Given the description of an element on the screen output the (x, y) to click on. 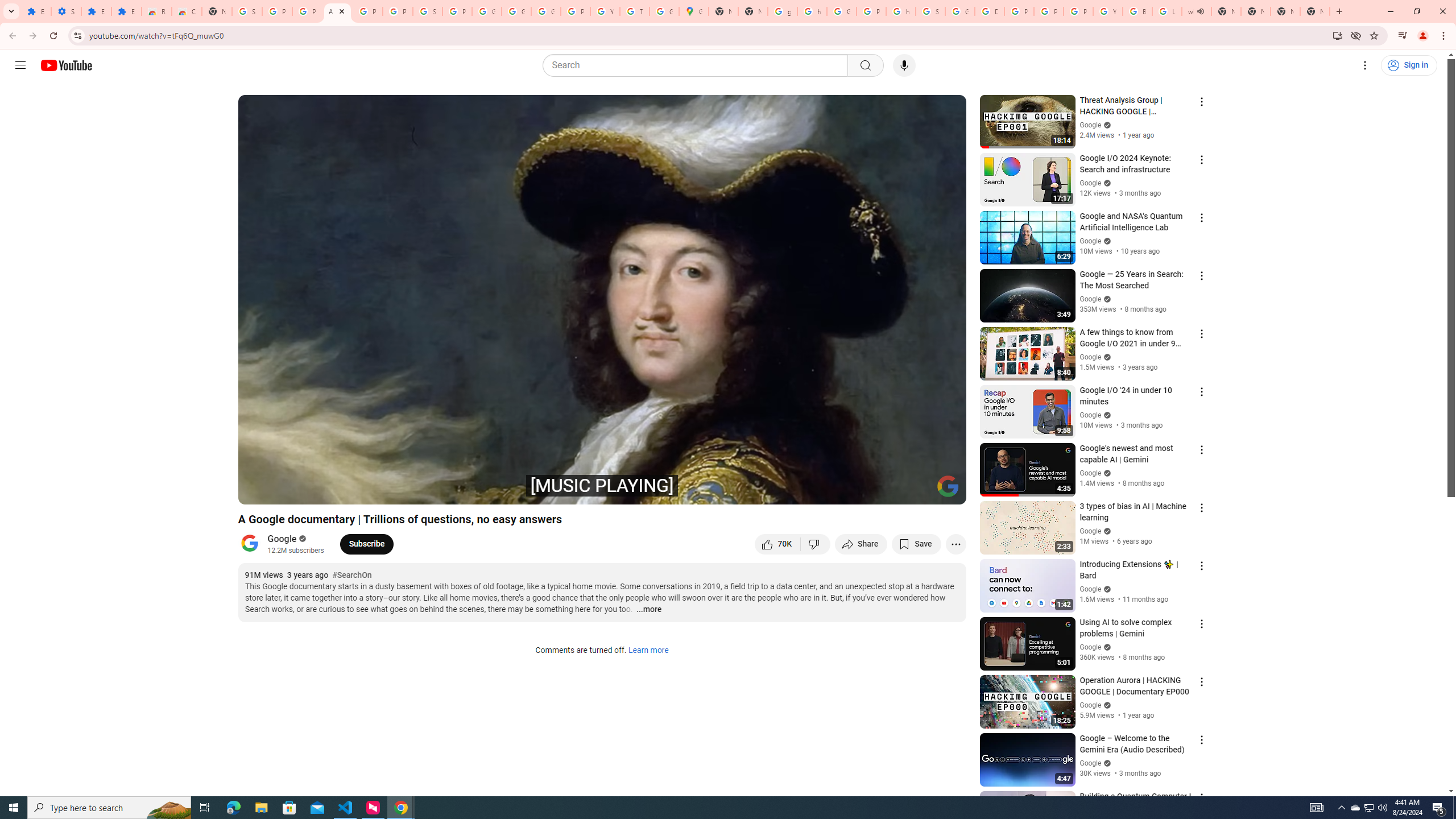
Subtitles/closed captions unavailable (836, 490)
Google Account (515, 11)
Google Maps (693, 11)
New Tab (216, 11)
Subscribe to Google. (366, 543)
Mute (m) (312, 490)
Extensions (95, 11)
